Given the description of an element on the screen output the (x, y) to click on. 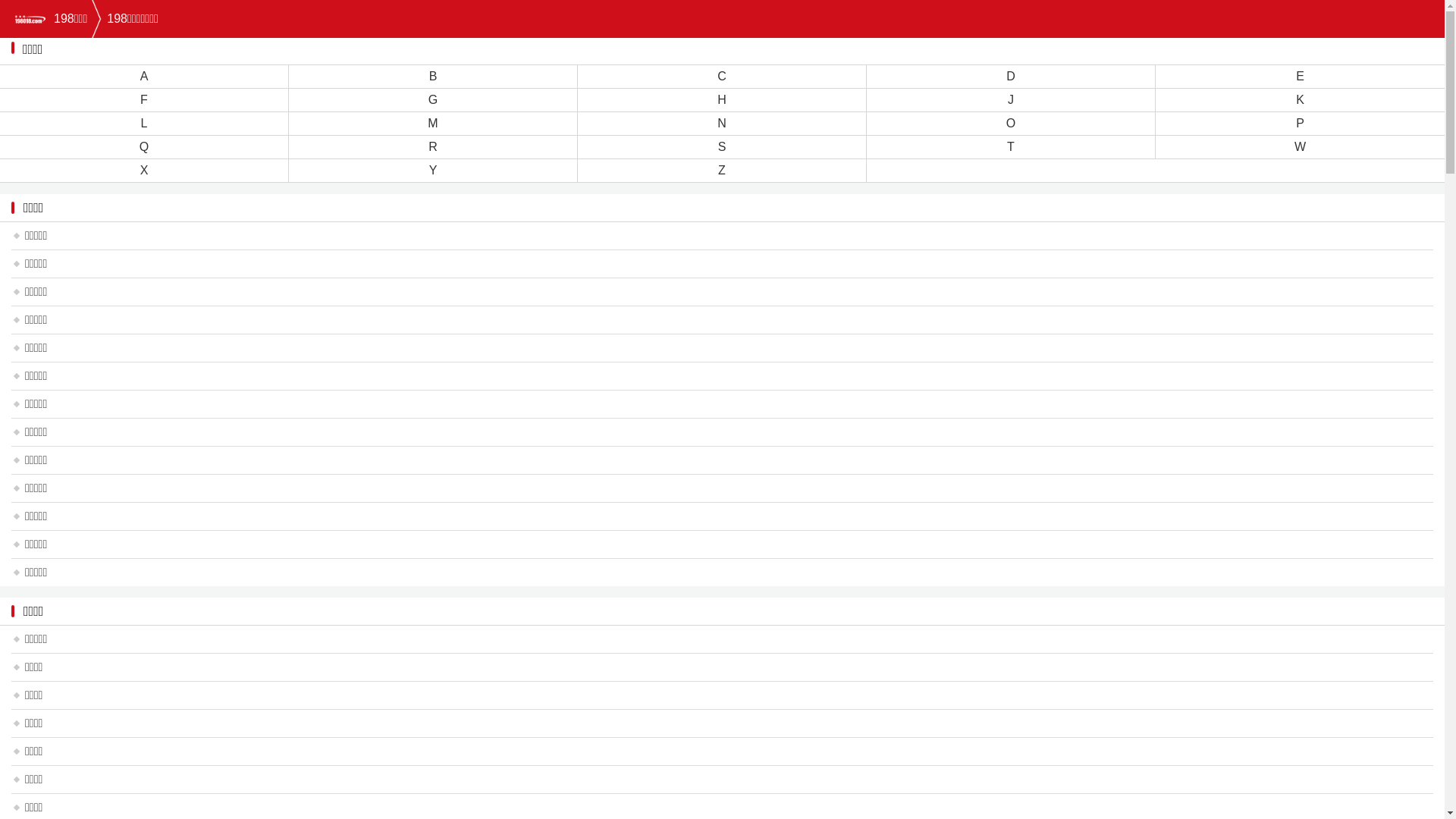
P Element type: text (1299, 122)
A Element type: text (144, 75)
L Element type: text (144, 122)
S Element type: text (722, 146)
Y Element type: text (433, 169)
D Element type: text (1010, 75)
C Element type: text (721, 75)
B Element type: text (433, 75)
E Element type: text (1299, 75)
O Element type: text (1010, 122)
R Element type: text (432, 146)
G Element type: text (432, 99)
Q Element type: text (143, 146)
H Element type: text (721, 99)
M Element type: text (432, 122)
F Element type: text (143, 99)
W Element type: text (1299, 146)
K Element type: text (1299, 99)
N Element type: text (721, 122)
X Element type: text (144, 169)
T Element type: text (1010, 146)
Z Element type: text (721, 169)
J Element type: text (1010, 99)
